Given the description of an element on the screen output the (x, y) to click on. 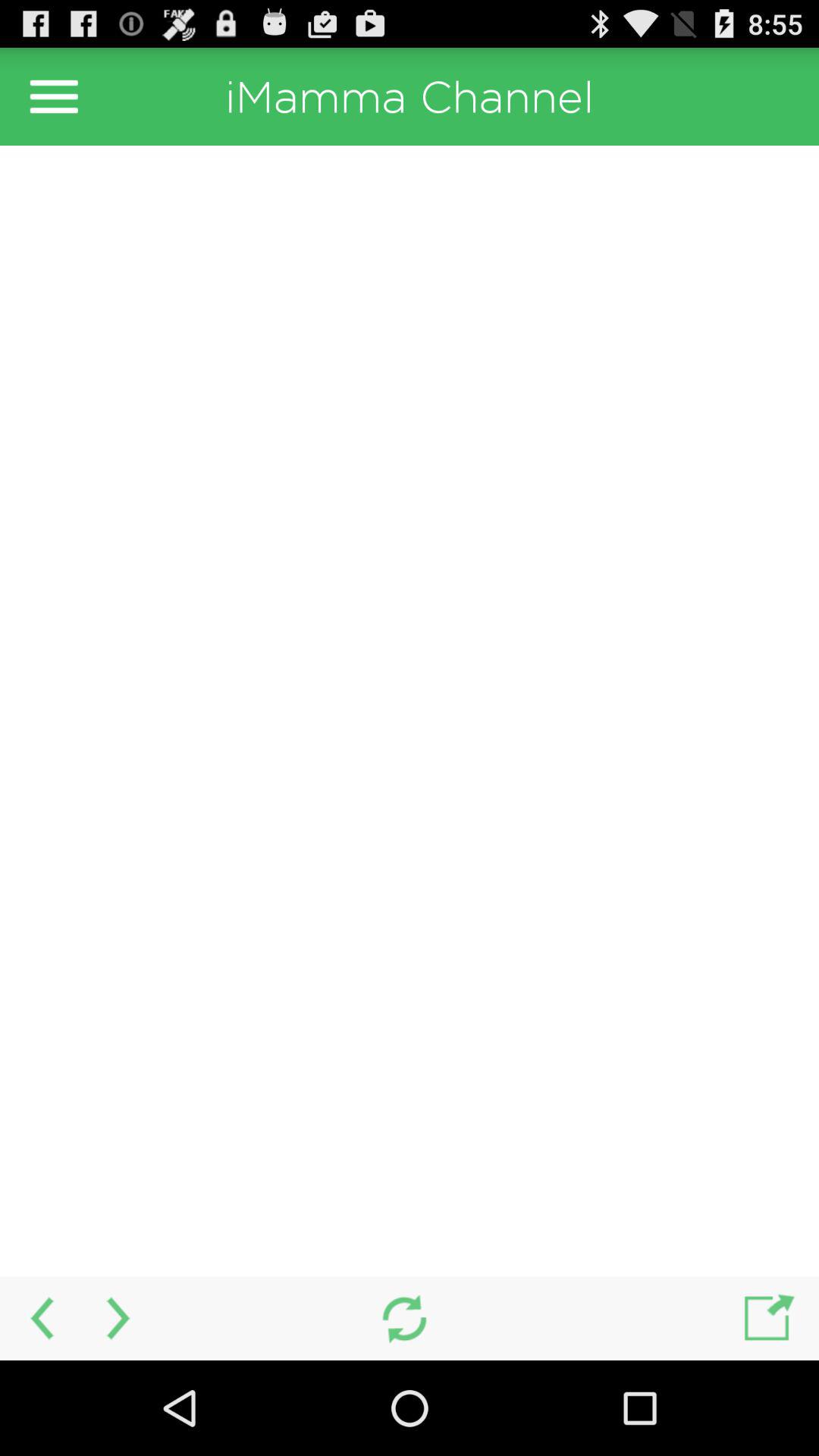
click to refresh option (404, 1318)
